Given the description of an element on the screen output the (x, y) to click on. 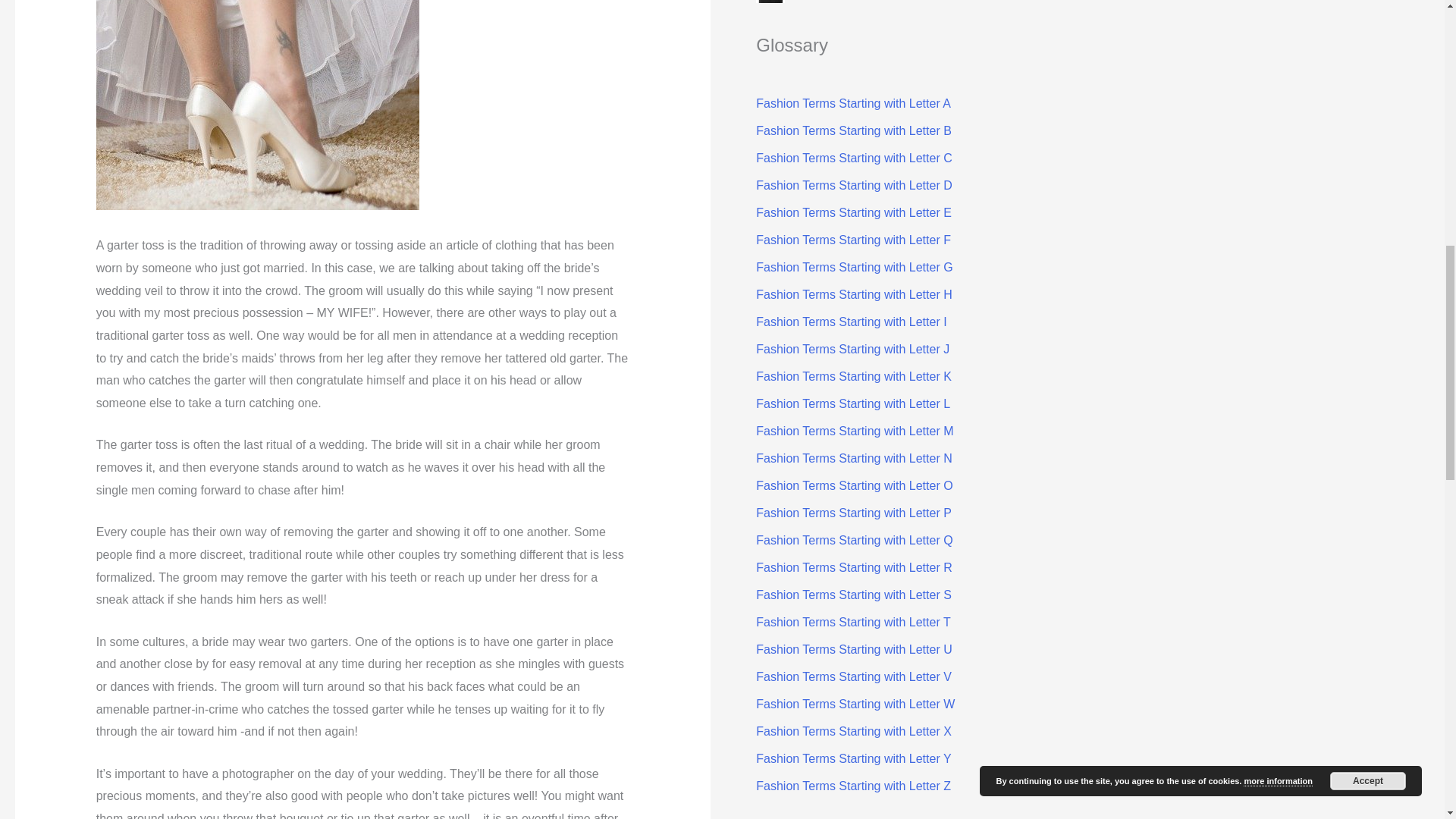
Fashion Terms Starting with Letter B (853, 130)
Fashion Terms Starting with Letter C (853, 157)
Fashion Terms Starting with Letter D (853, 185)
Fashion Terms Starting with Letter E (853, 212)
Fashion Terms Starting with Letter F (852, 239)
Fashion Terms Starting with Letter A (852, 103)
